Given the description of an element on the screen output the (x, y) to click on. 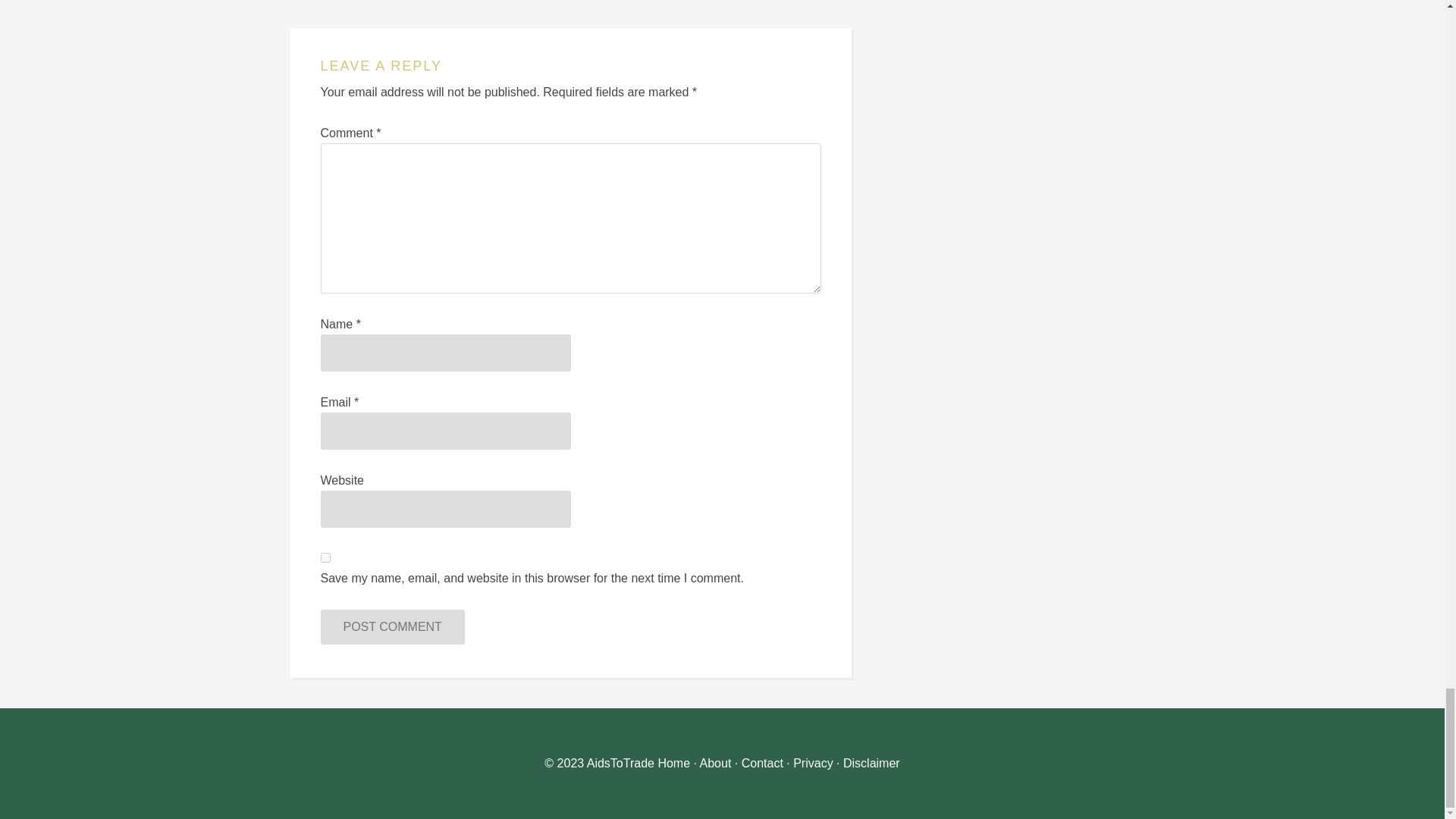
Post Comment (392, 626)
Disclaimer (871, 762)
Privacy (812, 762)
Post Comment (392, 626)
Home (674, 762)
yes (325, 557)
Contact (762, 762)
About (716, 762)
